Given the description of an element on the screen output the (x, y) to click on. 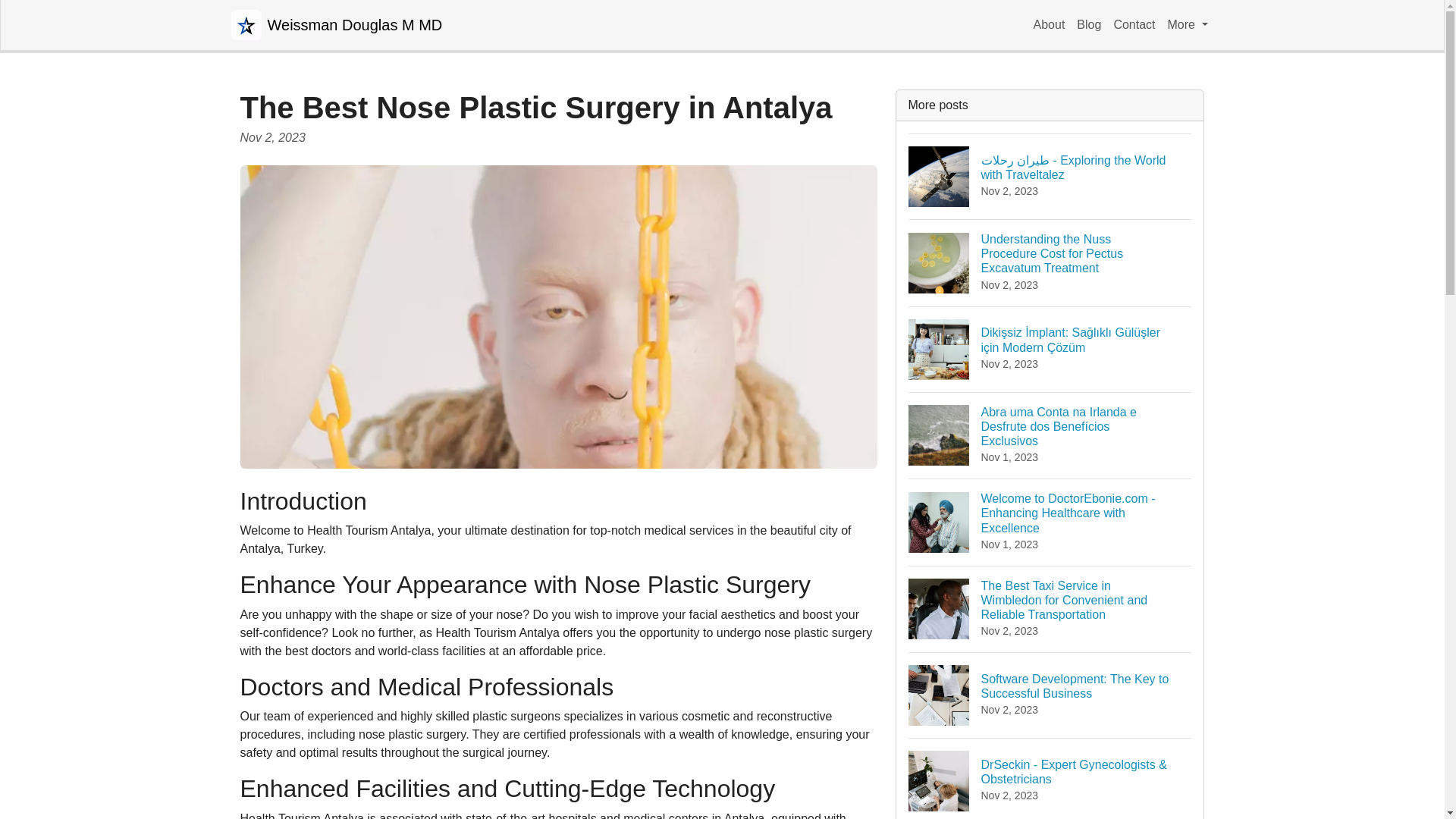
About (1049, 24)
Weissman Douglas M MD (336, 24)
Contact (1133, 24)
More (1187, 24)
Blog (1088, 24)
